Given the description of an element on the screen output the (x, y) to click on. 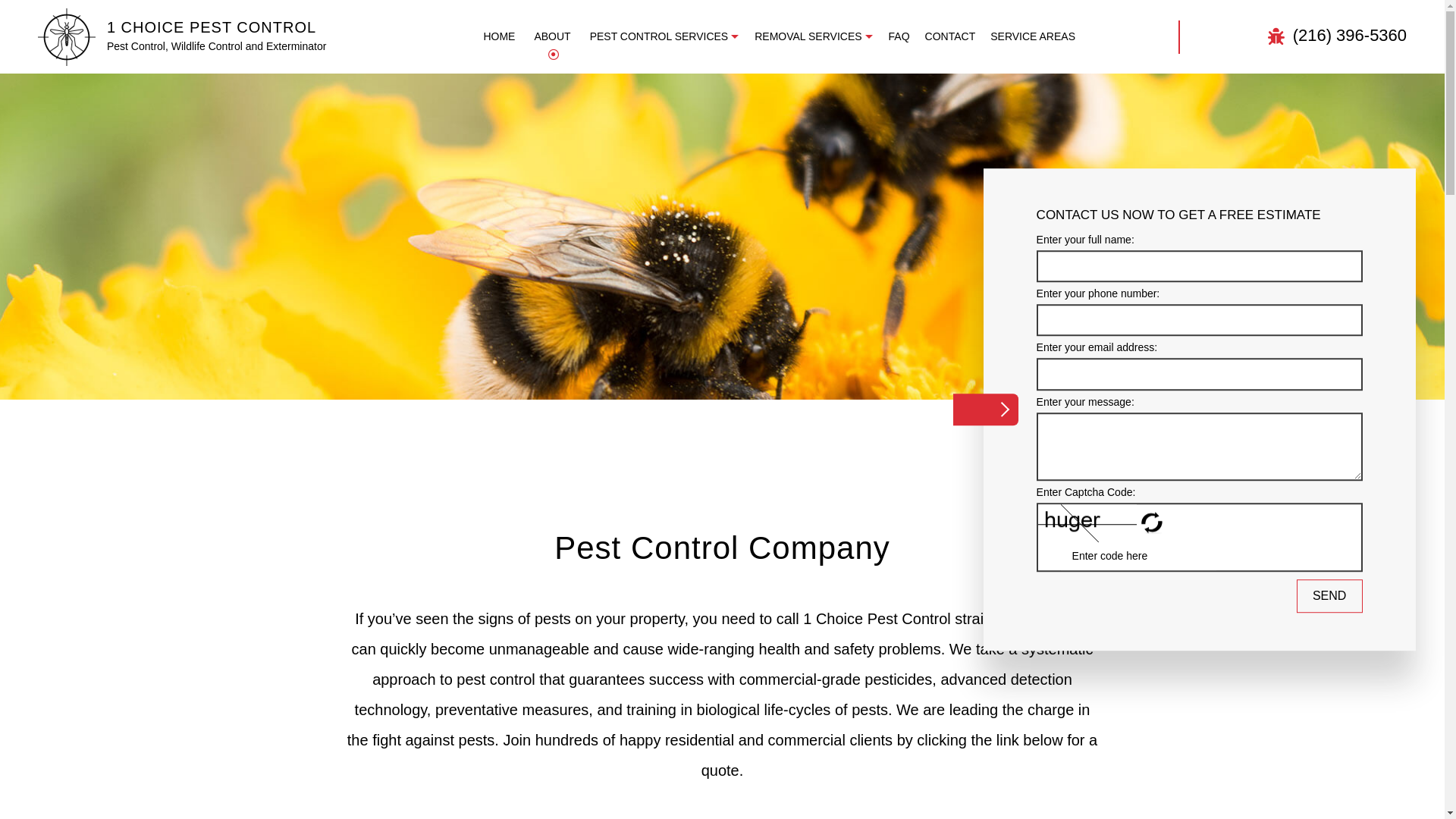
BIRD REMOVAL Element type: text (694, 137)
SEND Element type: text (1329, 595)
ANIMAL REMOVAL Element type: text (694, 110)
WILDLIFE CONTROL Element type: text (740, 296)
EXTERMINATOR Element type: text (545, 163)
(216) 396-5360 Element type: text (1337, 35)
REMOVAL SERVICES Element type: text (813, 36)
PEST INSPECTION Element type: text (740, 216)
MOTH REMOVAL Element type: text (890, 137)
GREEN PEST CONTROL Element type: text (740, 163)
CONTACT Element type: text (950, 36)
COCKROACH EXTERMINATOR Element type: text (545, 137)
BEE REMOVAL Element type: text (890, 110)
MICE CONTROL Element type: text (545, 190)
Refresh Captcha Element type: hover (1152, 522)
Captcha Code Element type: hover (1138, 556)
WASP CONTROL Element type: text (545, 296)
ORGANIC PEST CONTROL Element type: text (740, 190)
ANT CONTROL Element type: text (545, 110)
PEST CONTROL SERVICES Element type: text (664, 36)
BED BUG EXTERMINATOR Element type: text (740, 110)
1 CHOICE PEST CONTROL Element type: text (211, 26)
SERVICE AREAS Element type: text (1032, 36)
HOME Element type: text (498, 36)
Full Name Element type: hover (1199, 266)
WILDLIFE REMOVAL Element type: text (890, 163)
TERMITE CONTROL Element type: text (740, 270)
RODENT CONTROL Element type: text (545, 270)
COMMERCIAL PEST CONTROL Element type: text (740, 137)
ABOUT Element type: text (551, 36)
PEST CONTROL SERVICE Element type: text (545, 216)
RESIDENTIAL PEST CONTROL Element type: text (740, 243)
FAQ Element type: text (899, 36)
1 Choice Pest Control Element type: hover (66, 35)
RAT CONTROL Element type: text (545, 243)
Your Message Element type: hover (1199, 446)
Phone Number Element type: hover (1199, 319)
SPIDER REMOVAL Element type: text (694, 163)
Email Address Element type: hover (1199, 374)
